Given the description of an element on the screen output the (x, y) to click on. 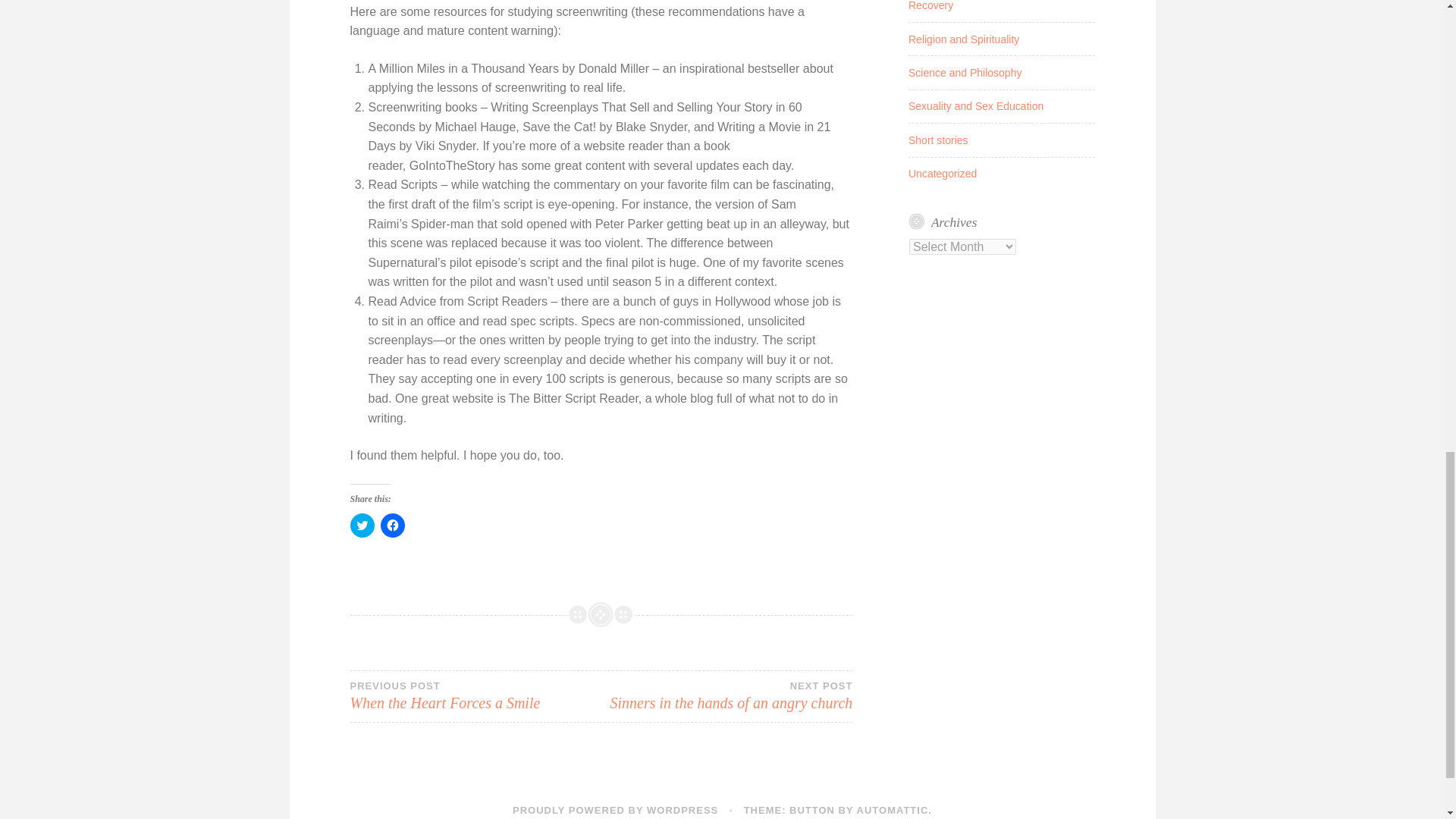
Sexuality and Sex Education (975, 105)
Religion and Spirituality (963, 39)
Recovery (930, 5)
Click to share on Twitter (475, 695)
AUTOMATTIC (362, 525)
Click to share on Facebook (892, 809)
PROUDLY POWERED BY WORDPRESS (392, 525)
Science and Philosophy (614, 809)
Short stories (726, 695)
Uncategorized (965, 72)
